Given the description of an element on the screen output the (x, y) to click on. 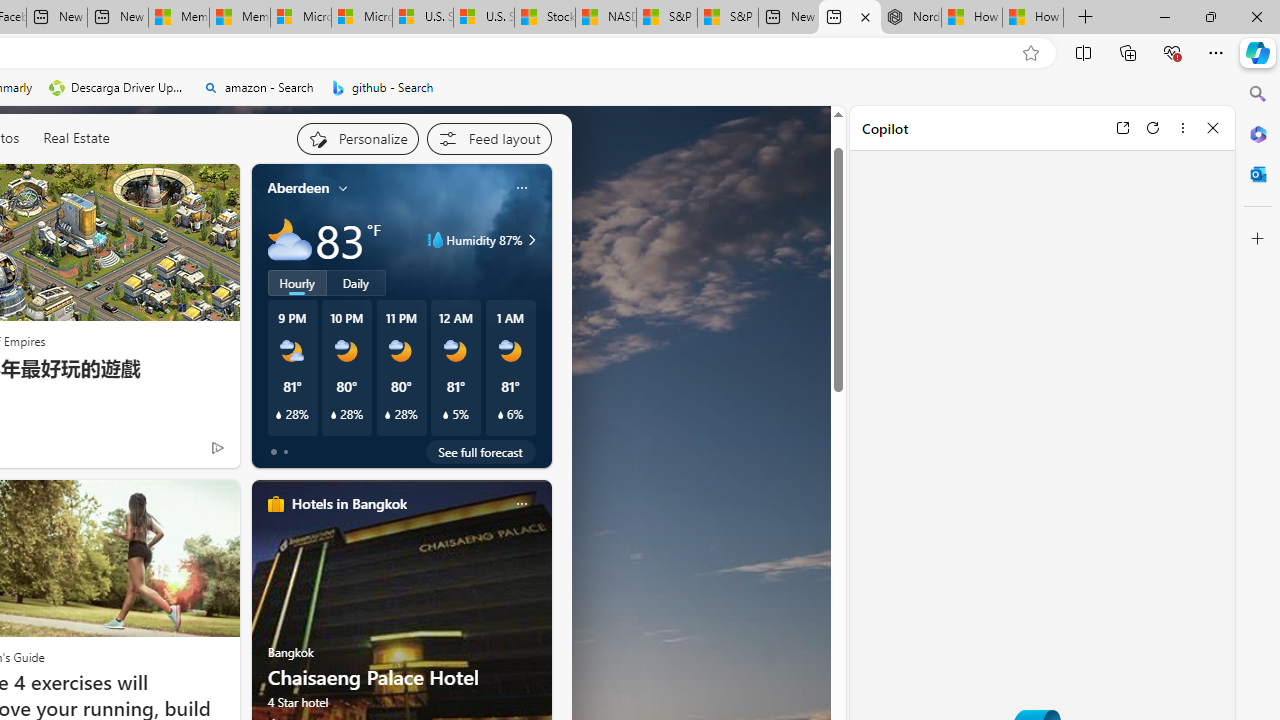
Add this page to favorites (Ctrl+D) (1030, 53)
S&P 500, Nasdaq end lower, weighed by Nvidia dip | Watch (727, 17)
Split screen (1083, 52)
Nordace - Summer Adventures 2024 (910, 17)
Refresh (1153, 127)
Real Estate (76, 137)
amazon - Search (258, 88)
Ad Choice (217, 447)
Hourly (296, 282)
Humidity 87% (529, 240)
How to Use a Monitor With Your Closed Laptop (1033, 17)
